Given the description of an element on the screen output the (x, y) to click on. 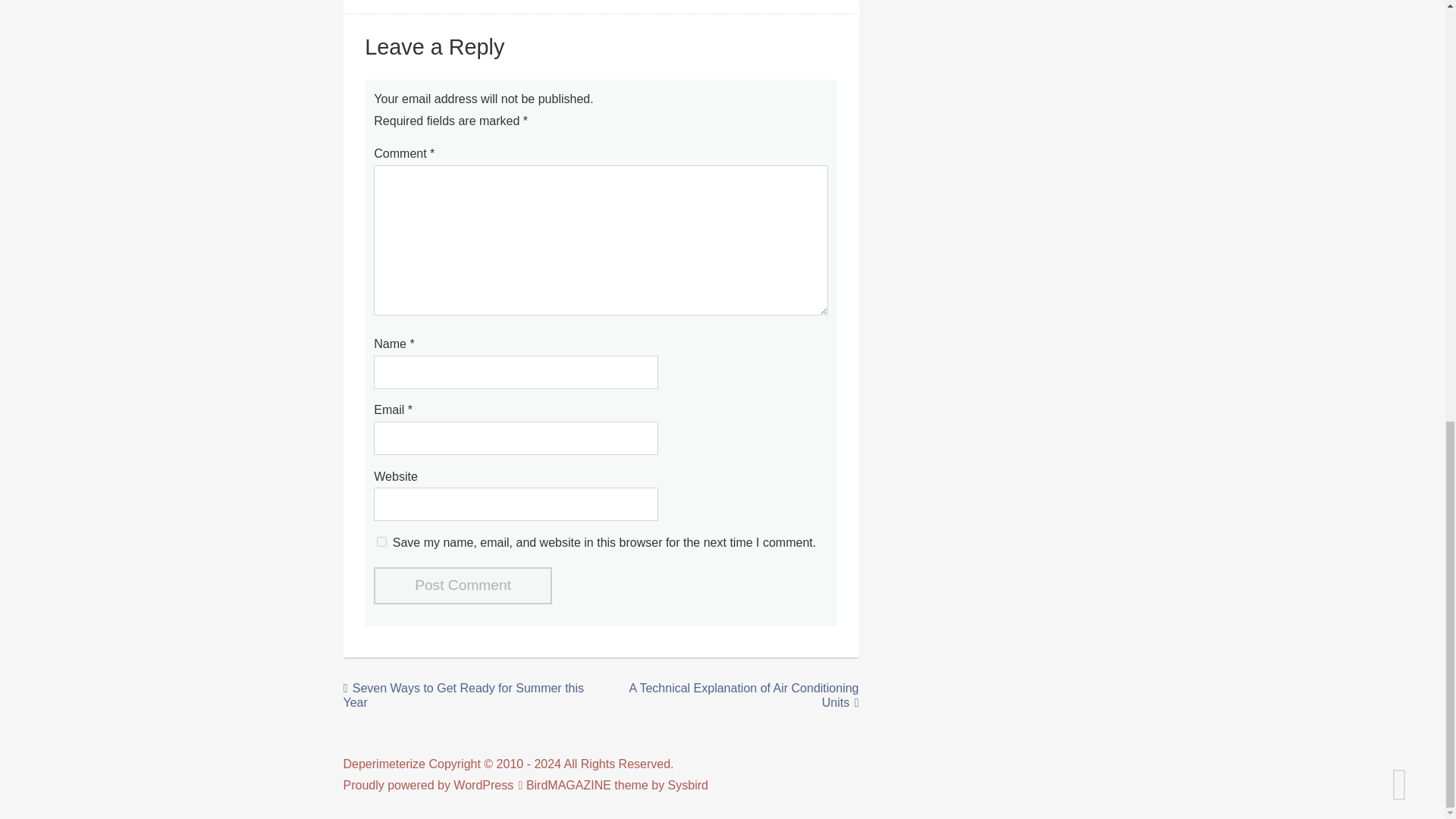
Post Comment (462, 585)
yes (382, 542)
A Technical Explanation of Air Conditioning Units (743, 695)
Deperimeterize (383, 763)
Sysbird (687, 784)
Proudly powered by WordPress (427, 784)
Post Comment (462, 585)
Seven Ways to Get Ready for Summer this Year (462, 695)
